Given the description of an element on the screen output the (x, y) to click on. 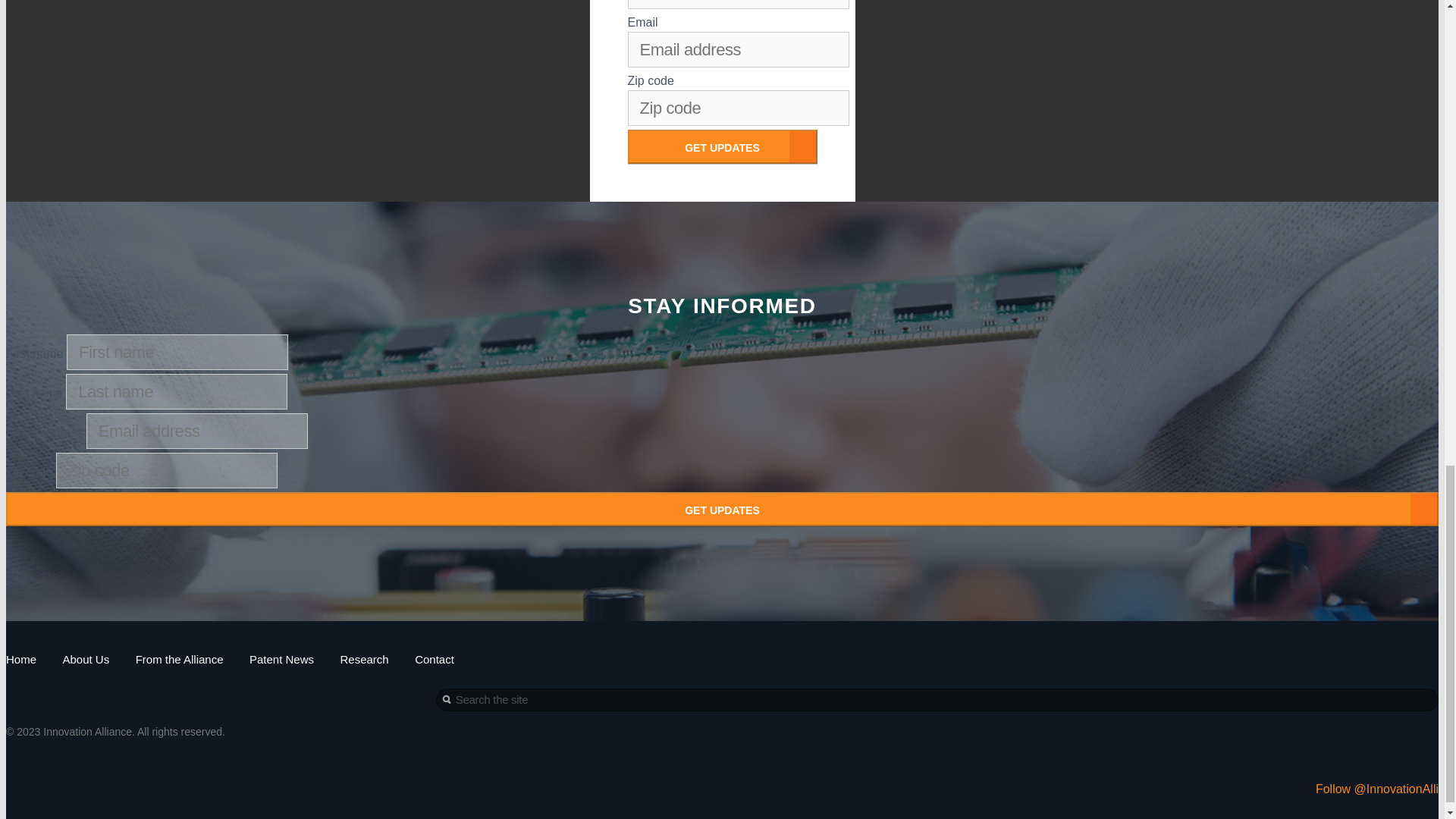
Home (20, 658)
GET UPDATES (721, 146)
Patent News (281, 658)
From the Alliance (179, 658)
Research (363, 658)
Contact (434, 658)
About Us (85, 658)
